Given the description of an element on the screen output the (x, y) to click on. 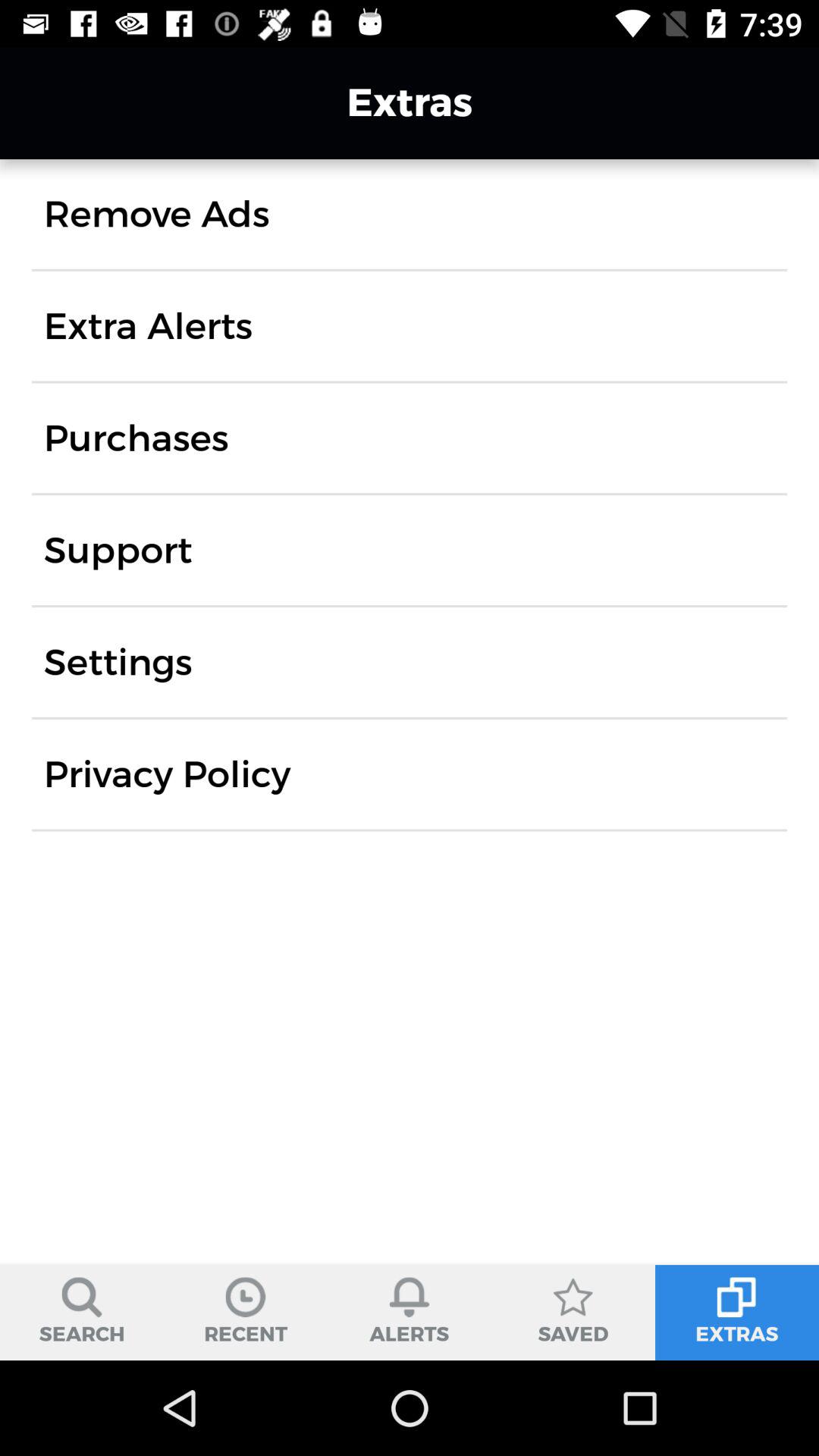
click the icon below support icon (117, 662)
